Given the description of an element on the screen output the (x, y) to click on. 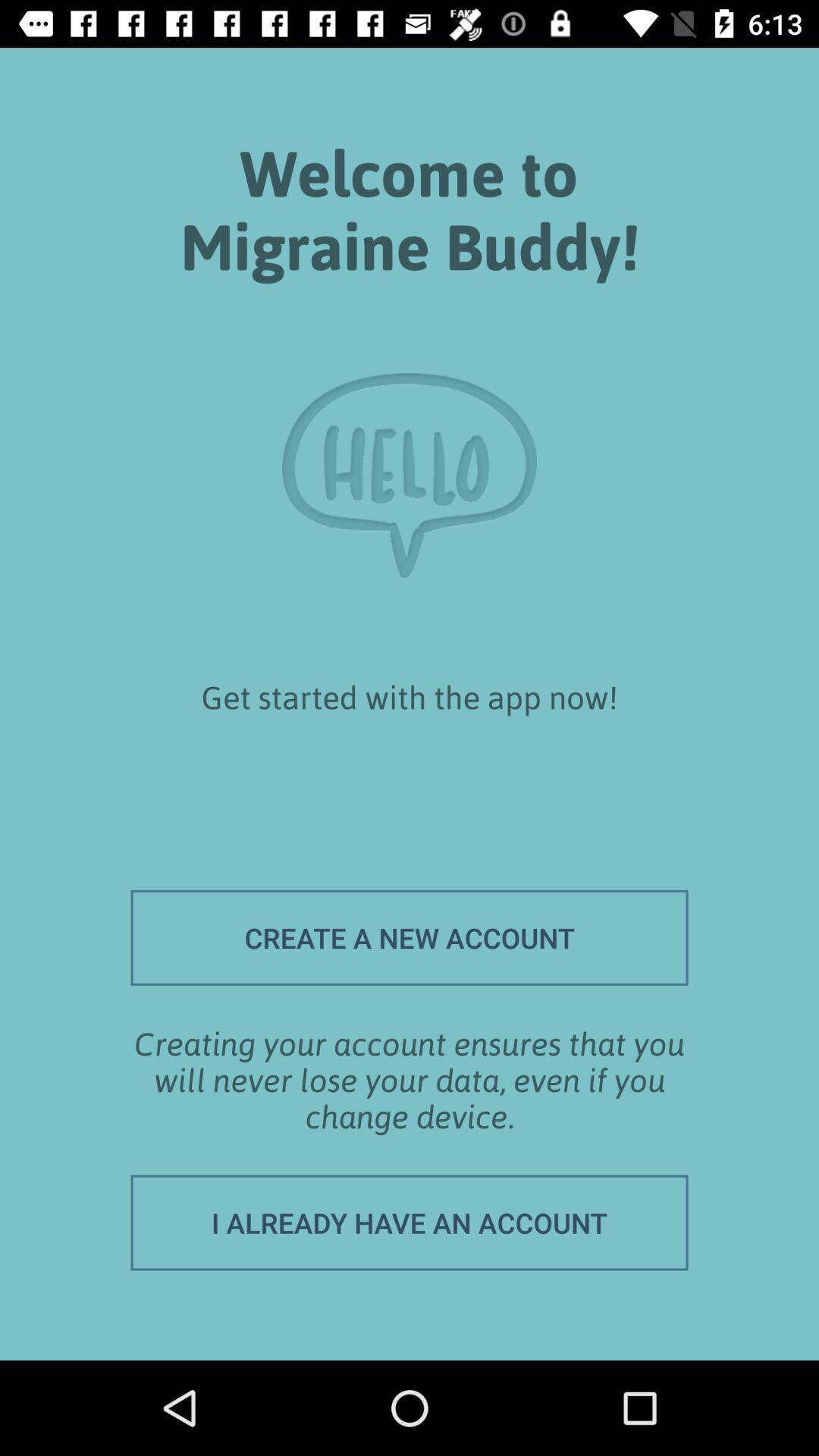
tap icon below the creating your account app (409, 1222)
